Given the description of an element on the screen output the (x, y) to click on. 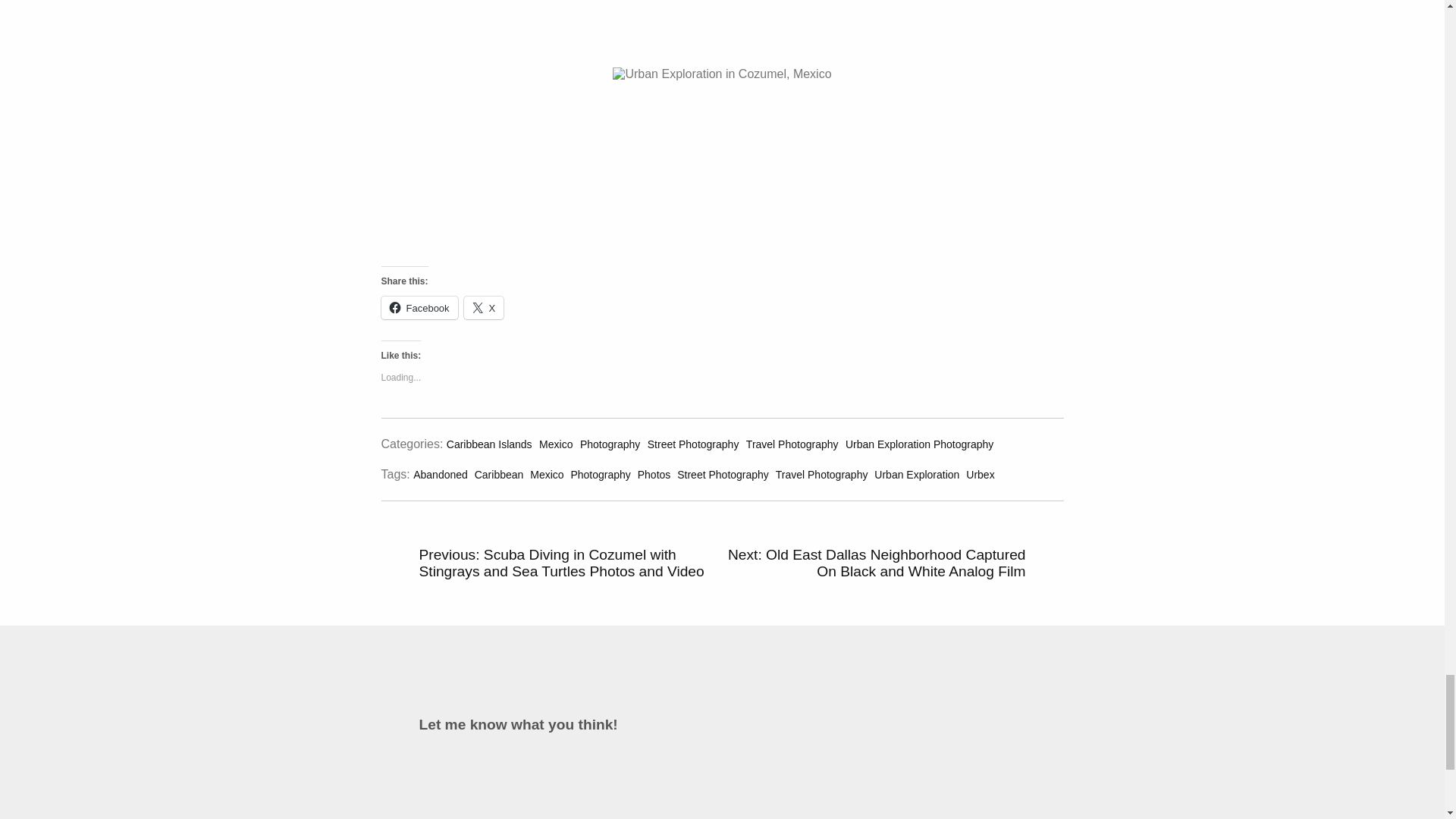
Street Photography (693, 444)
Caribbean Islands (489, 444)
Street Photography (724, 474)
Mexico (547, 474)
Travel Photography (791, 444)
X (483, 307)
Caribbean (500, 474)
Photography (609, 444)
Click to share on X (483, 307)
Facebook (418, 307)
Travel Photography (823, 474)
Click to share on Facebook (418, 307)
Urban Exploration Photography (918, 444)
Mexico (555, 444)
Comment Form (722, 778)
